Given the description of an element on the screen output the (x, y) to click on. 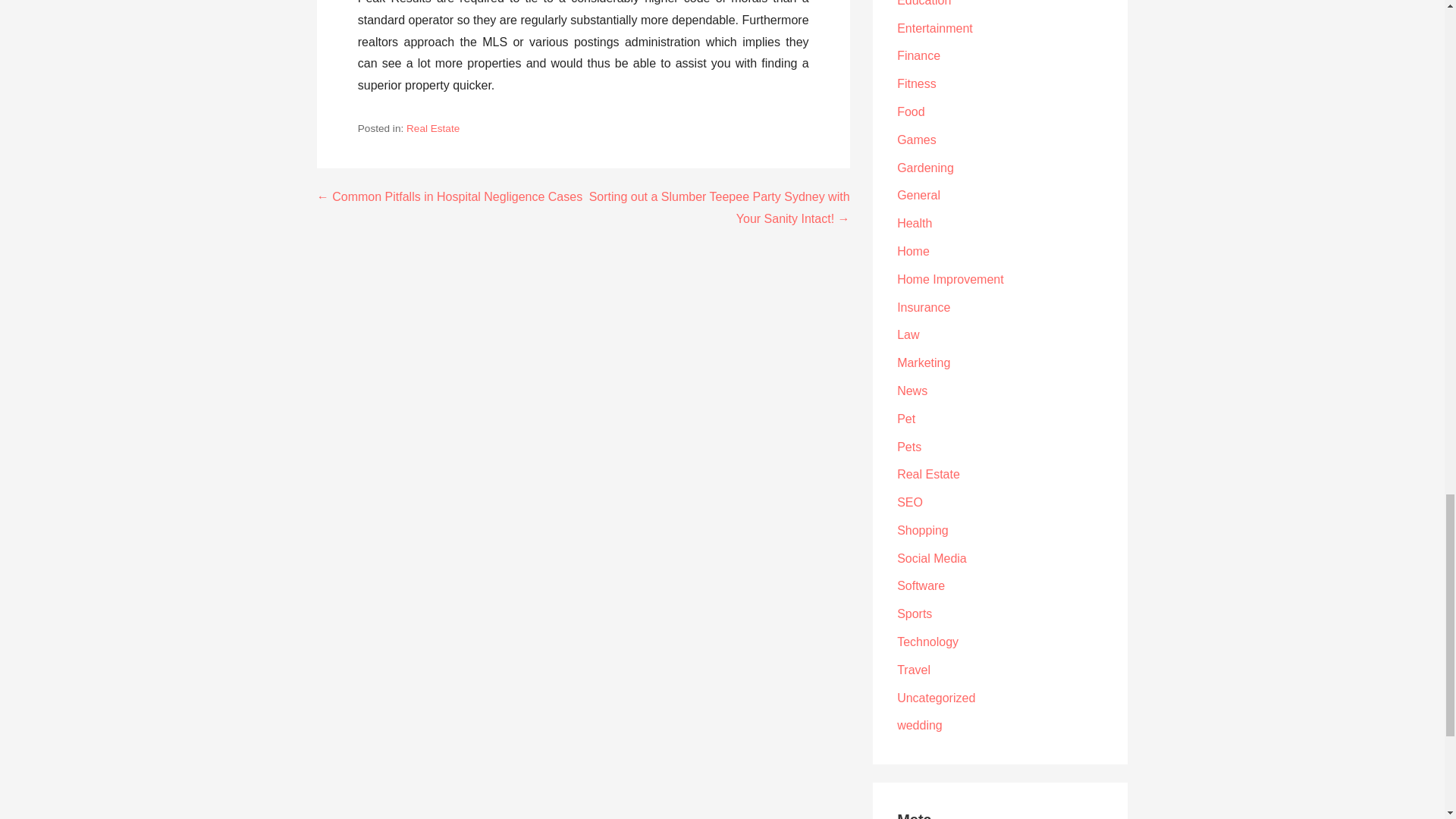
General (918, 195)
Games (916, 139)
Finance (918, 55)
Education (923, 3)
Real Estate (433, 128)
Gardening (924, 167)
Fitness (916, 83)
Health (913, 223)
Home Improvement (950, 278)
Home (913, 250)
